Given the description of an element on the screen output the (x, y) to click on. 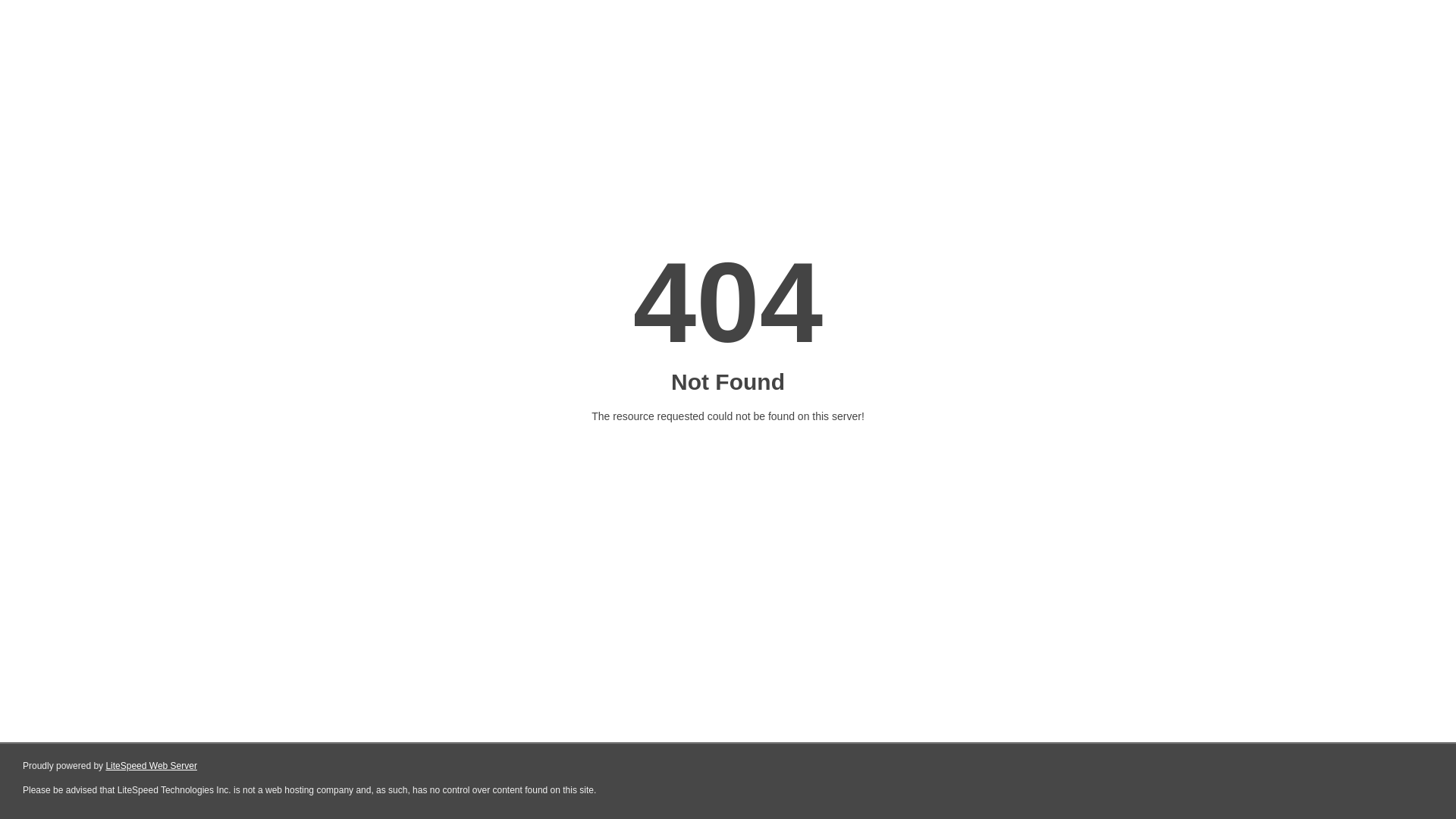
LiteSpeed Web Server Element type: text (151, 765)
